Given the description of an element on the screen output the (x, y) to click on. 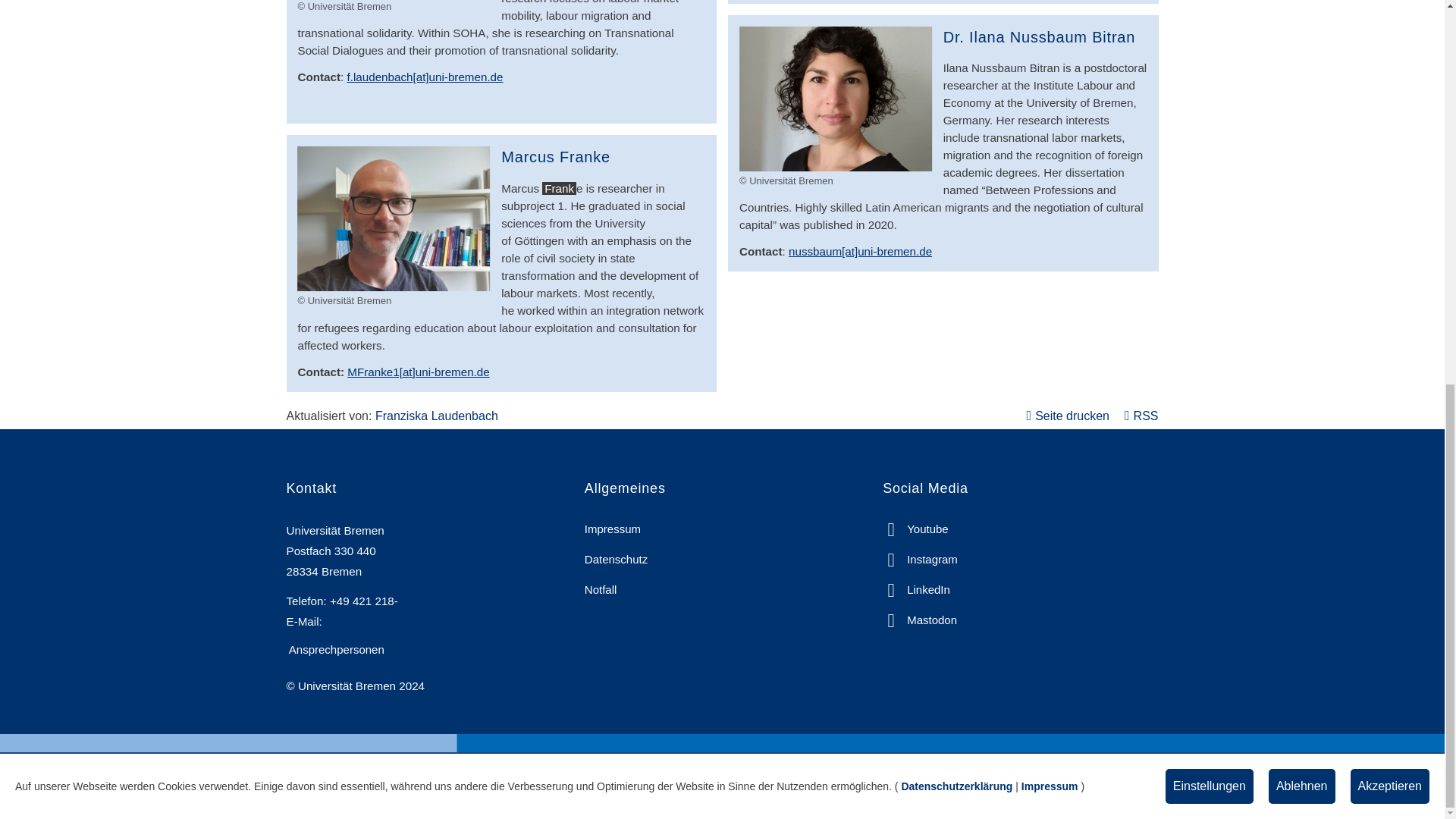
Seite als RSS Feed (1140, 415)
Zum Seitenende springen (1411, 63)
